Given the description of an element on the screen output the (x, y) to click on. 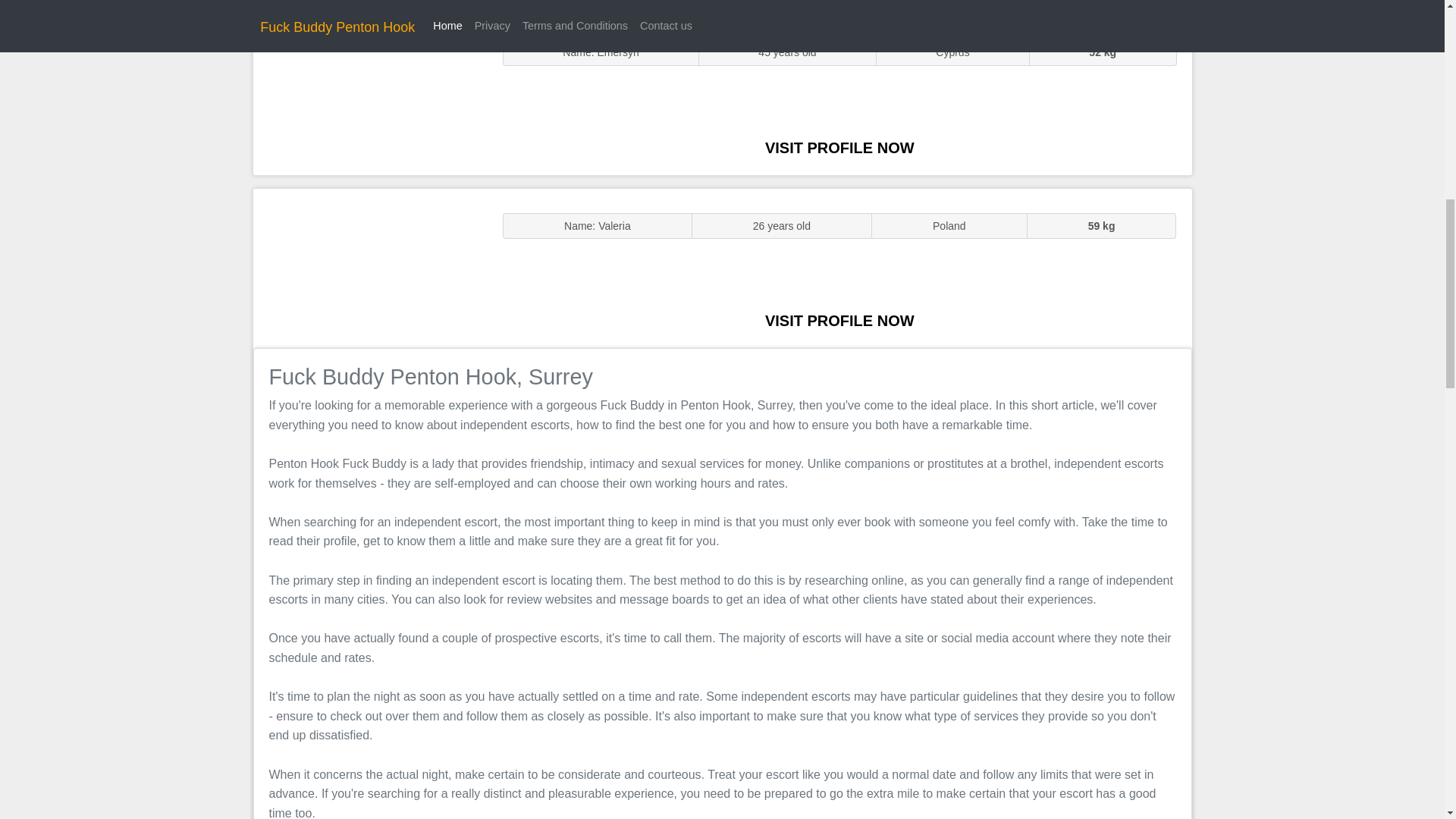
Sluts (370, 94)
VISIT PROFILE NOW (839, 147)
VISIT PROFILE NOW (839, 320)
Massage (370, 267)
